Given the description of an element on the screen output the (x, y) to click on. 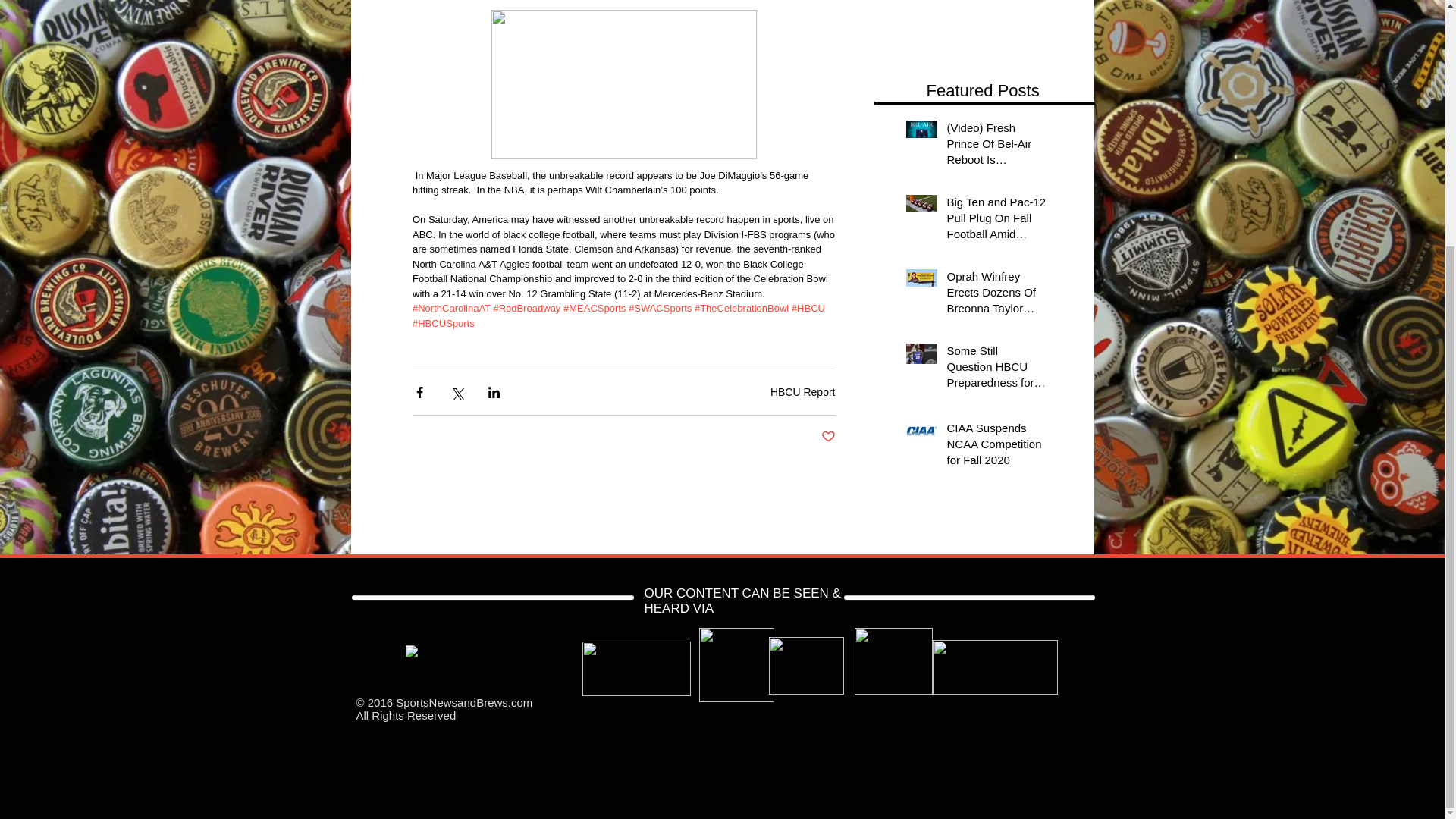
Big Ten and Pac-12 Pull Plug On Fall Football Amid Pandemic (995, 221)
Some Still Question HBCU Preparedness for Blue Chip Athletes (995, 369)
Post not marked as liked (827, 437)
HBCU Report (802, 391)
CIAA Suspends NCAA Competition for Fall 2020 (995, 447)
